Given the description of an element on the screen output the (x, y) to click on. 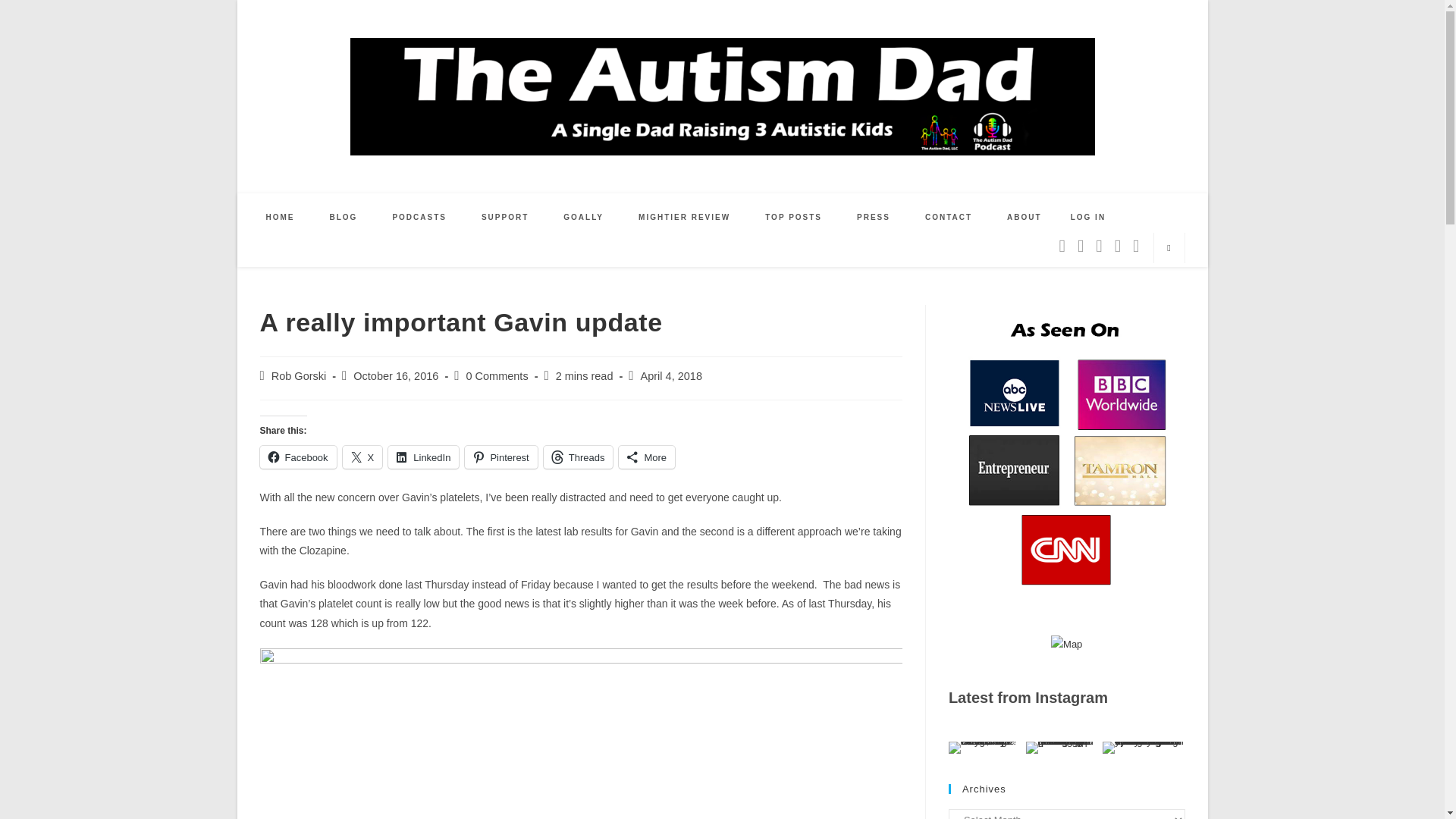
PRESS (873, 217)
GOALLY (583, 217)
MIGHTIER REVIEW (684, 217)
Click to share on Facebook (297, 456)
BLOG (344, 217)
TOP POSTS (794, 217)
PODCASTS (419, 217)
0 Comments (496, 376)
Posts by Rob Gorski (298, 376)
HOME (280, 217)
Click to share on X (362, 456)
SUPPORT (505, 217)
LOG IN (1087, 217)
Facebook (297, 456)
